Given the description of an element on the screen output the (x, y) to click on. 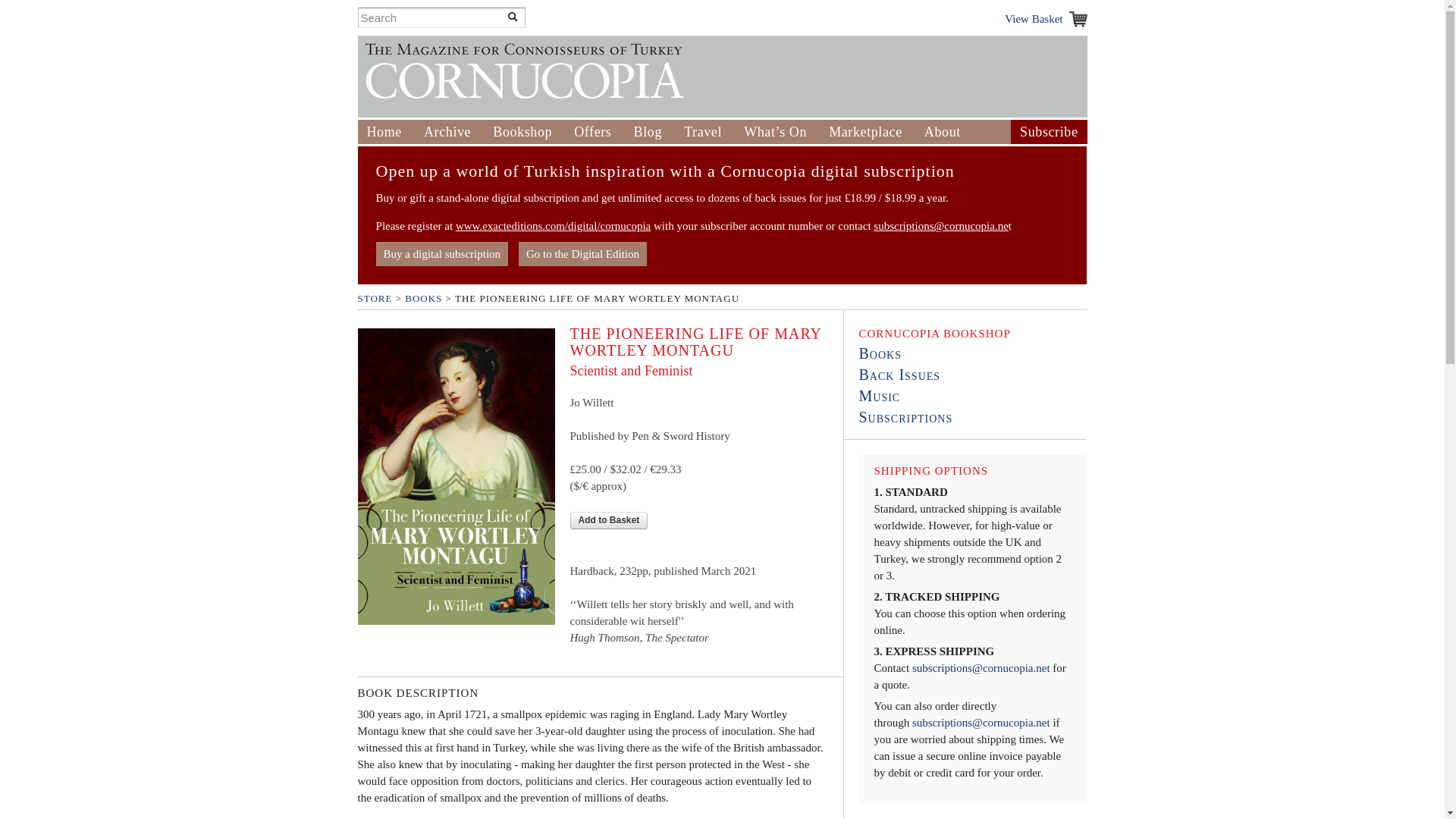
Go to the Digital Edition (582, 253)
Home (383, 131)
View Basket (1045, 18)
Bookshop (522, 131)
Marketplace (865, 131)
BOOKS (423, 297)
STORE (375, 297)
Archive (446, 131)
Blog (647, 131)
Buy a digital subscription (441, 253)
Subscribe (1048, 131)
Travel (703, 131)
About (942, 131)
Offers (592, 131)
